Given the description of an element on the screen output the (x, y) to click on. 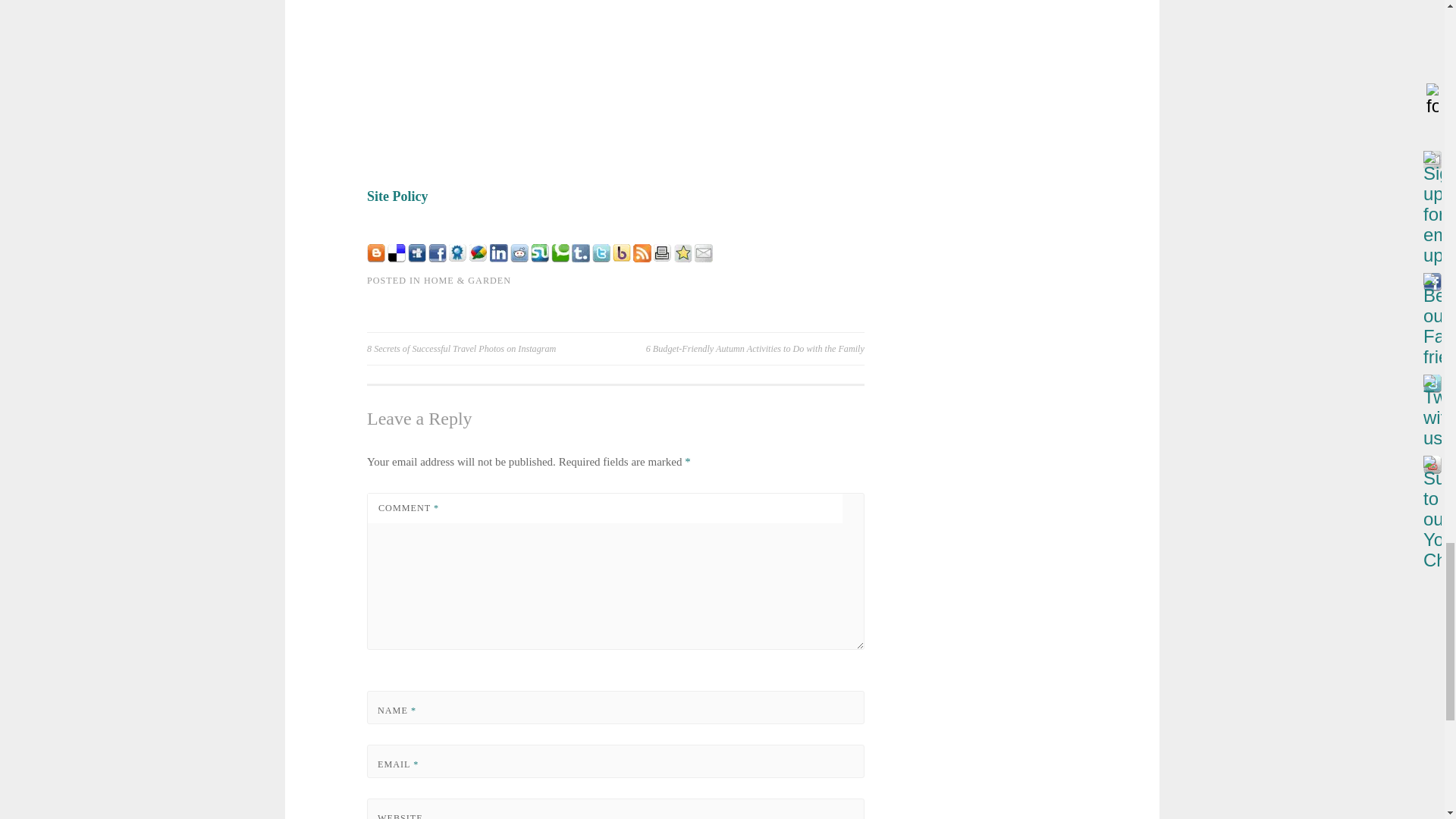
Site Policy (397, 196)
Digg this post : How to Make More Space in Your Home (416, 257)
Tumblr. this post : How to Make More Space in Your Home  (580, 257)
Buzz up this post : How to Make More Space in Your Home  (621, 257)
Buzz up this post : How to Make More Space in Your Home  (477, 257)
